Given the description of an element on the screen output the (x, y) to click on. 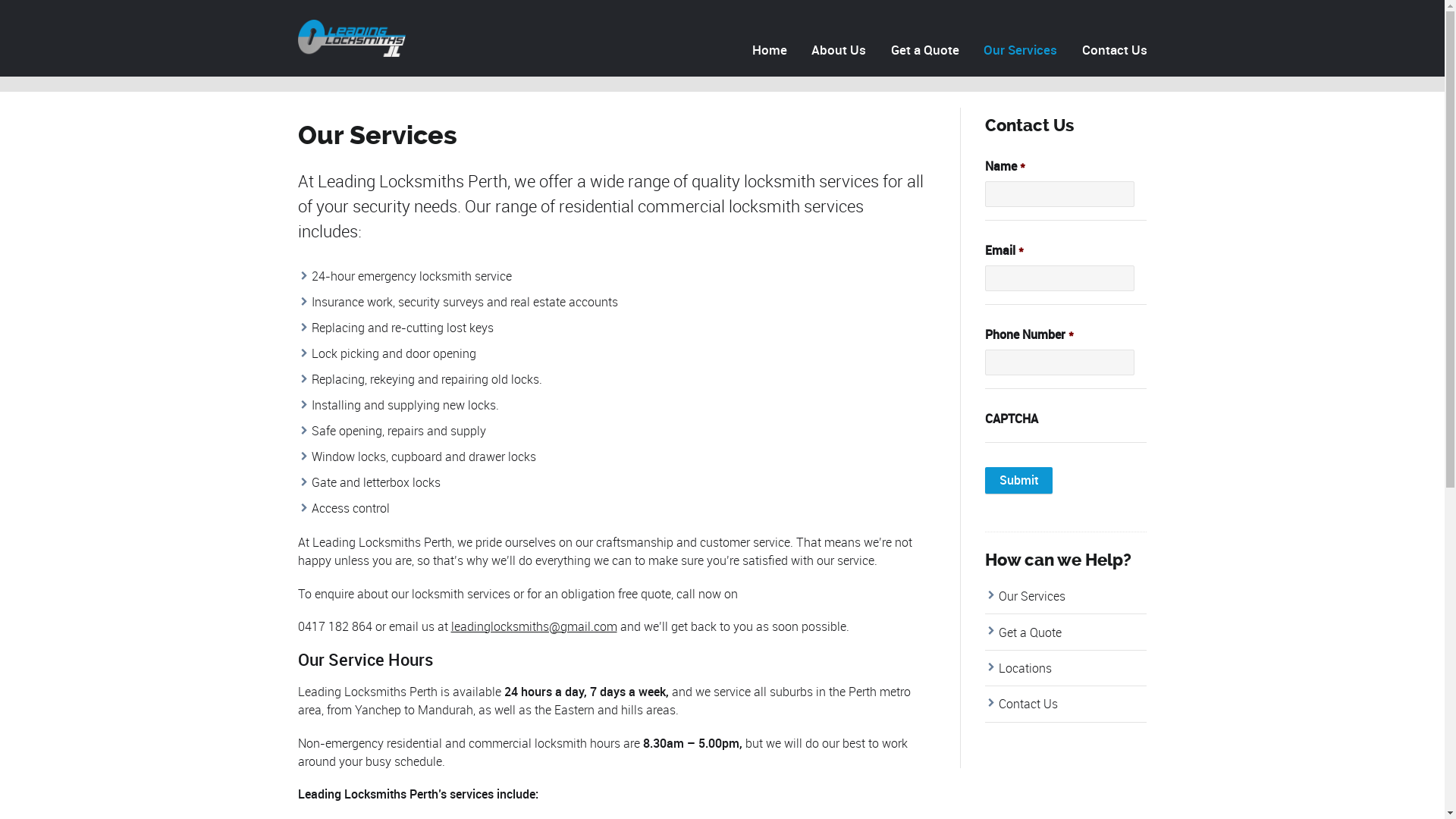
Our Services Element type: text (1020, 49)
Get a Quote Element type: text (924, 49)
Locations Element type: text (1024, 667)
Get a Quote Element type: text (1029, 632)
About Us Element type: text (838, 49)
Submit Element type: text (1018, 480)
leadinglocksmiths@gmail.com Element type: text (533, 626)
Contact Us Element type: text (1112, 49)
Home Element type: text (769, 49)
Our Services Element type: text (1031, 595)
Contact Us Element type: text (1027, 703)
